Given the description of an element on the screen output the (x, y) to click on. 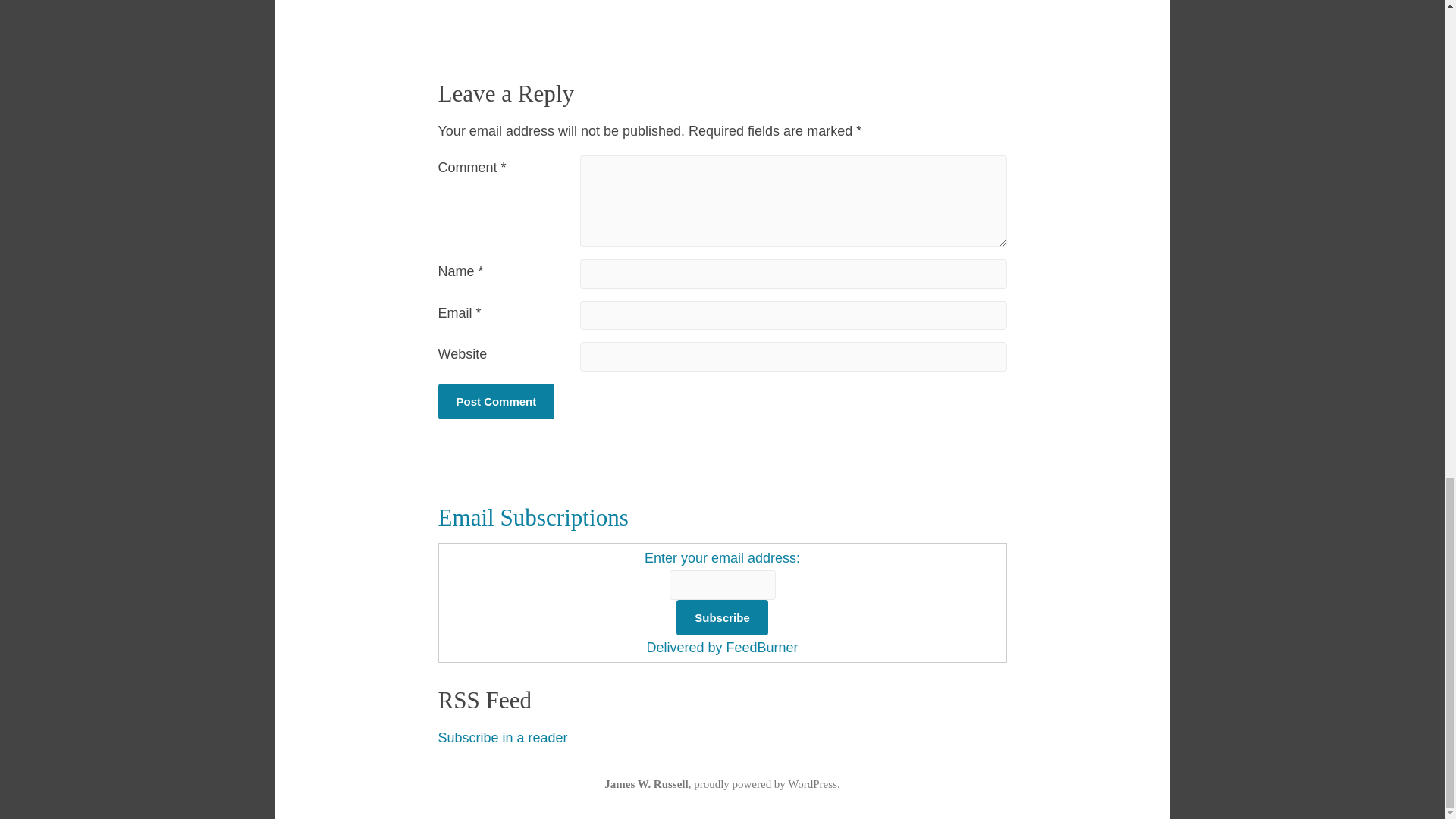
Email Subscriptions (533, 517)
Enter your email address: (722, 585)
Subscribe to my feed (502, 737)
Subscribe (722, 617)
Post Comment (496, 401)
Post Comment (496, 401)
Subscribe (722, 617)
Delivered by (685, 647)
